Given the description of an element on the screen output the (x, y) to click on. 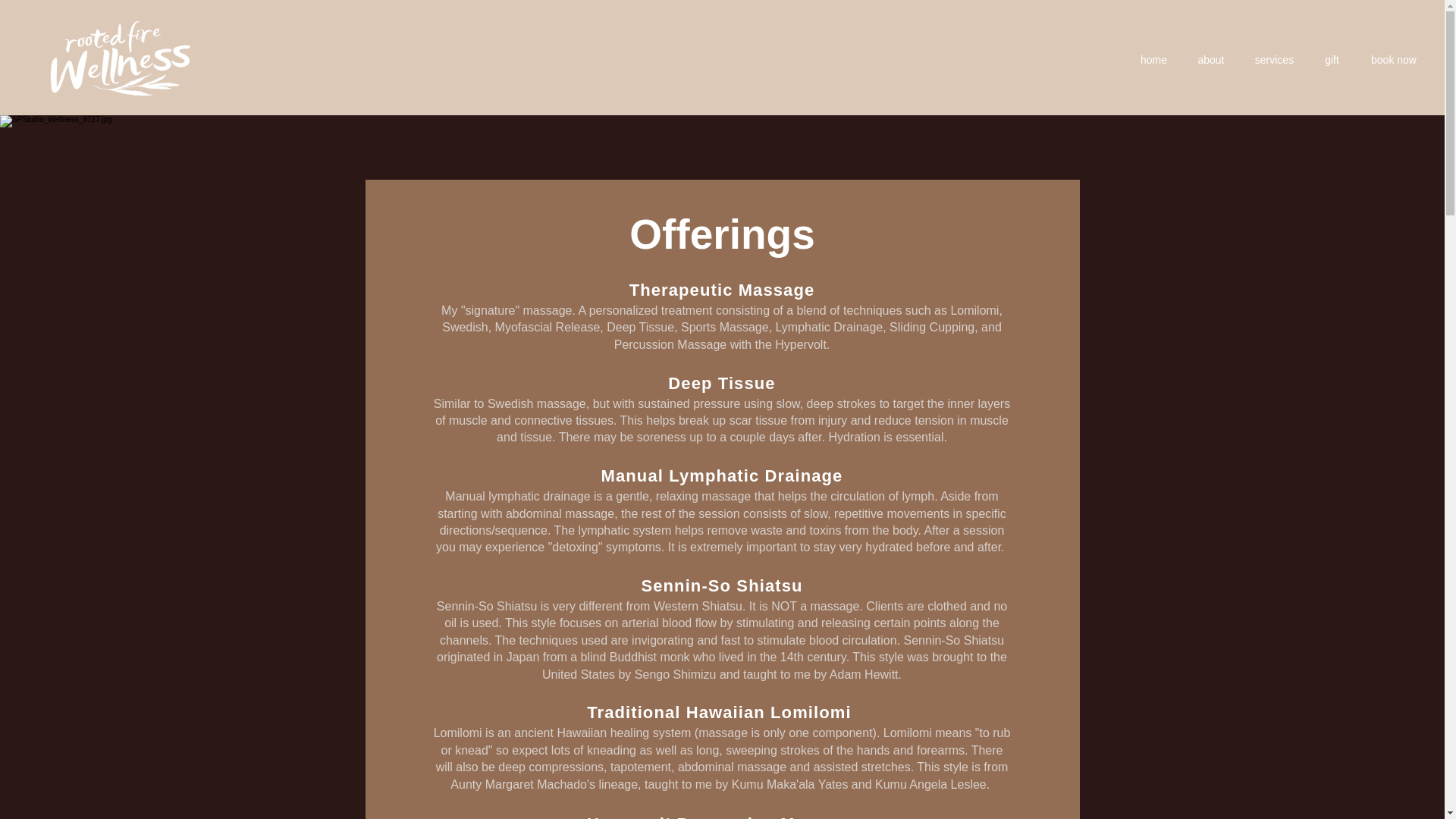
about (1211, 59)
gift (1331, 59)
home (1153, 59)
book now (1393, 59)
services (1274, 59)
